Given the description of an element on the screen output the (x, y) to click on. 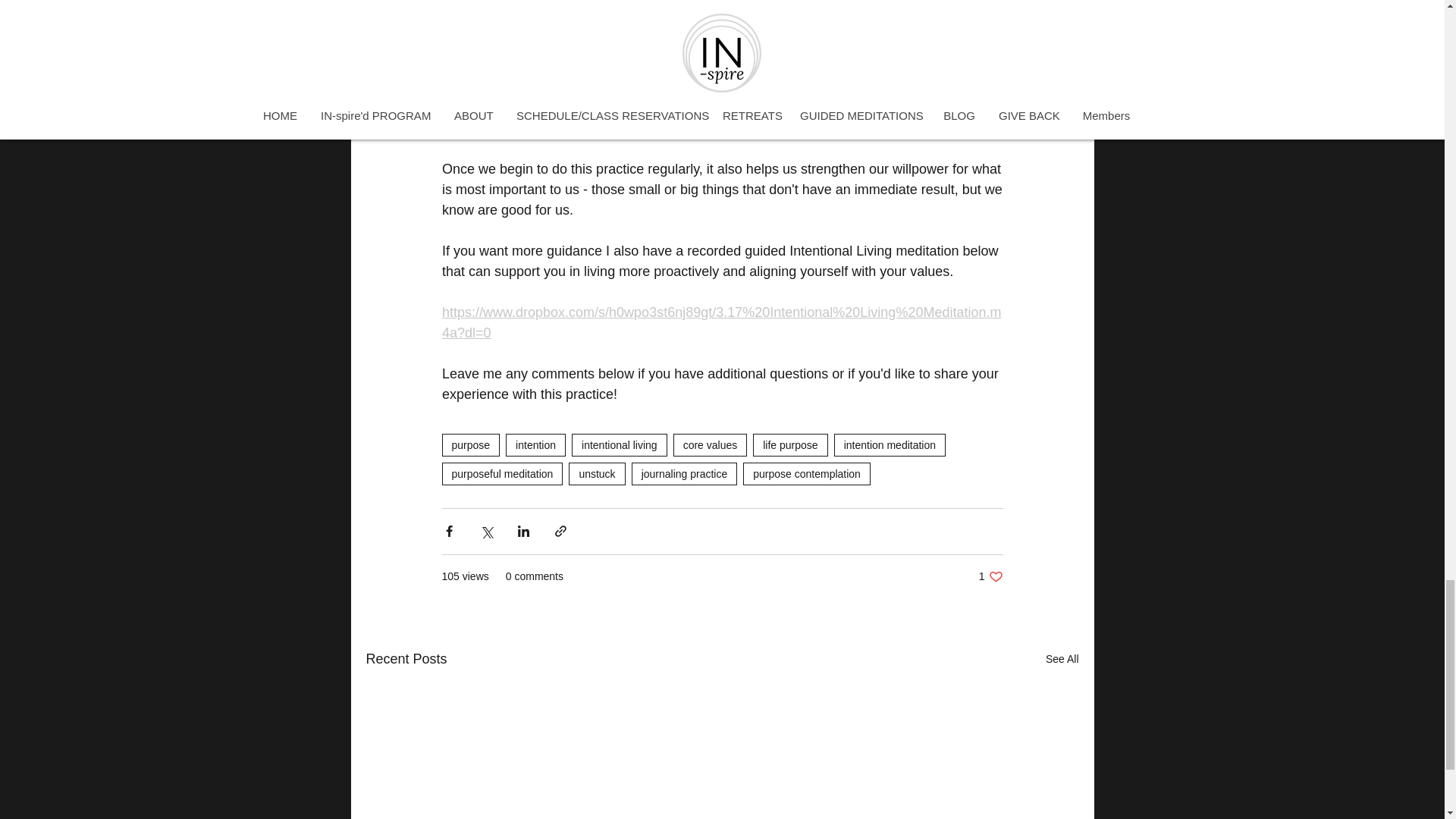
purpose contemplation (806, 473)
life purpose (789, 445)
core values (710, 445)
purposeful meditation (501, 473)
journaling practice (684, 473)
See All (1061, 659)
intention (535, 445)
intention meditation (990, 576)
purpose (889, 445)
intentional living (470, 445)
unstuck (619, 445)
